Given the description of an element on the screen output the (x, y) to click on. 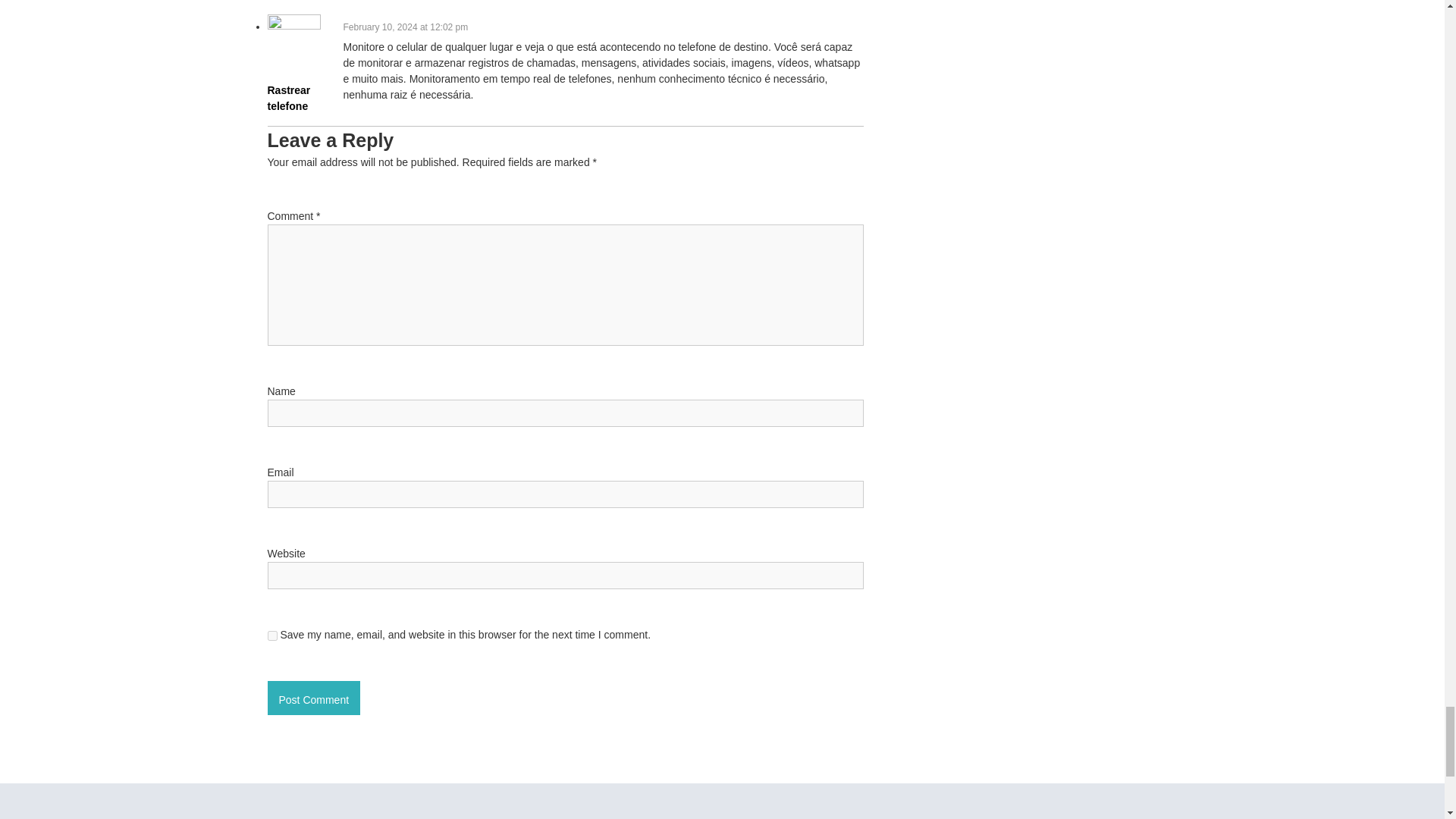
yes (271, 635)
Post Comment (312, 697)
